Given the description of an element on the screen output the (x, y) to click on. 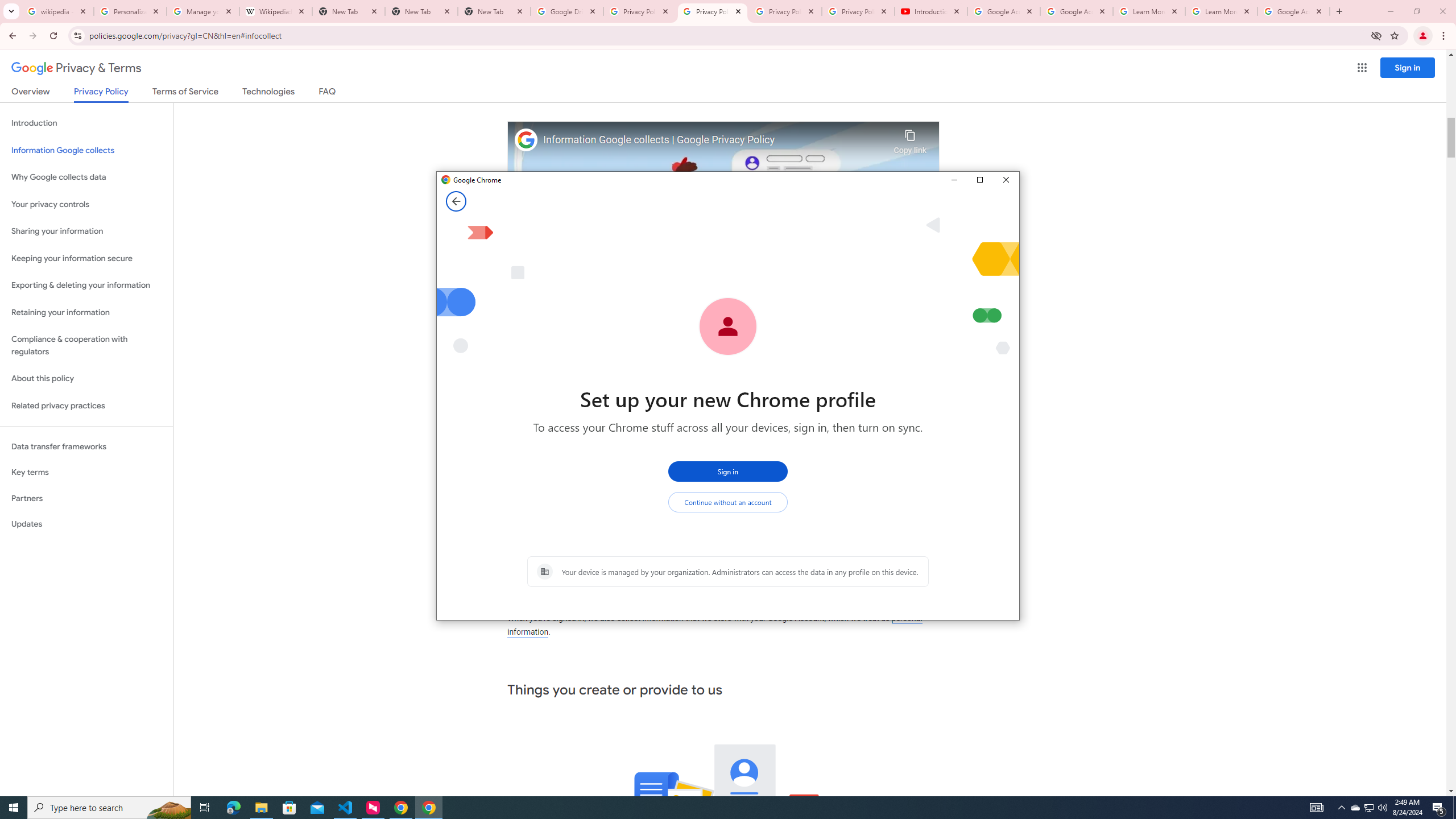
Q2790: 100% (1382, 807)
Technologies (268, 93)
About this policy (86, 379)
FAQ (327, 93)
Key terms (86, 472)
Action Center, 5 new notifications (1439, 807)
Why Google collects data (86, 176)
